Given the description of an element on the screen output the (x, y) to click on. 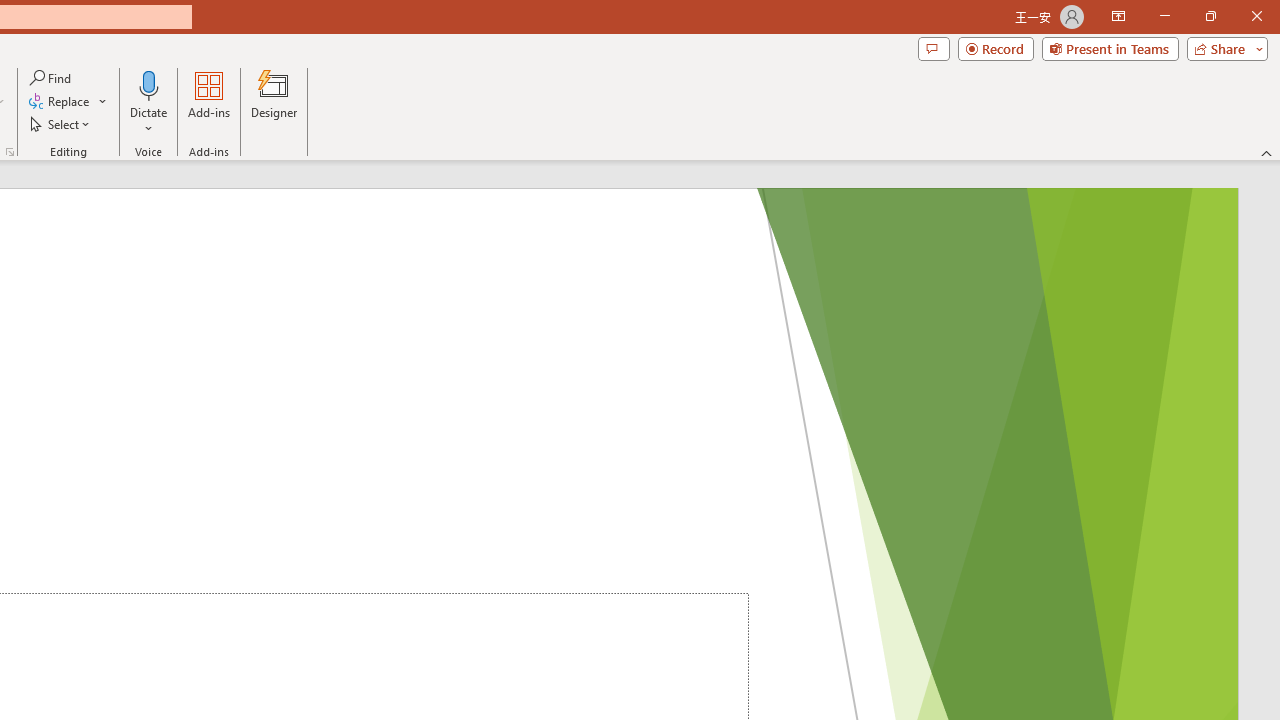
Collapse the Ribbon (1267, 152)
Find... (51, 78)
Replace... (68, 101)
Close (1256, 16)
